Given the description of an element on the screen output the (x, y) to click on. 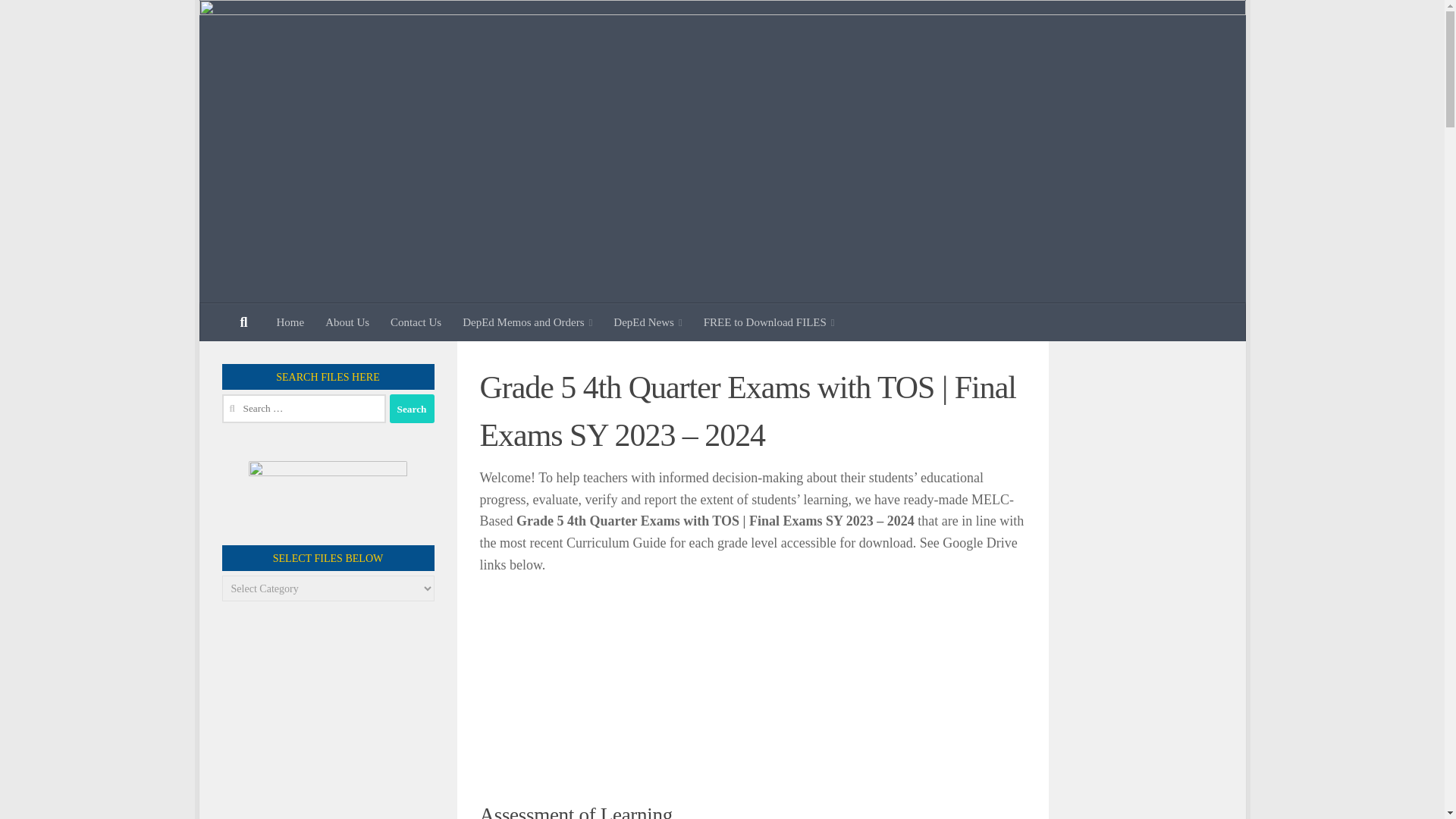
Contact Us (415, 322)
DepEd Memos and Orders (526, 322)
Search (411, 408)
Search (411, 408)
About Us (347, 322)
Home (289, 322)
